Given the description of an element on the screen output the (x, y) to click on. 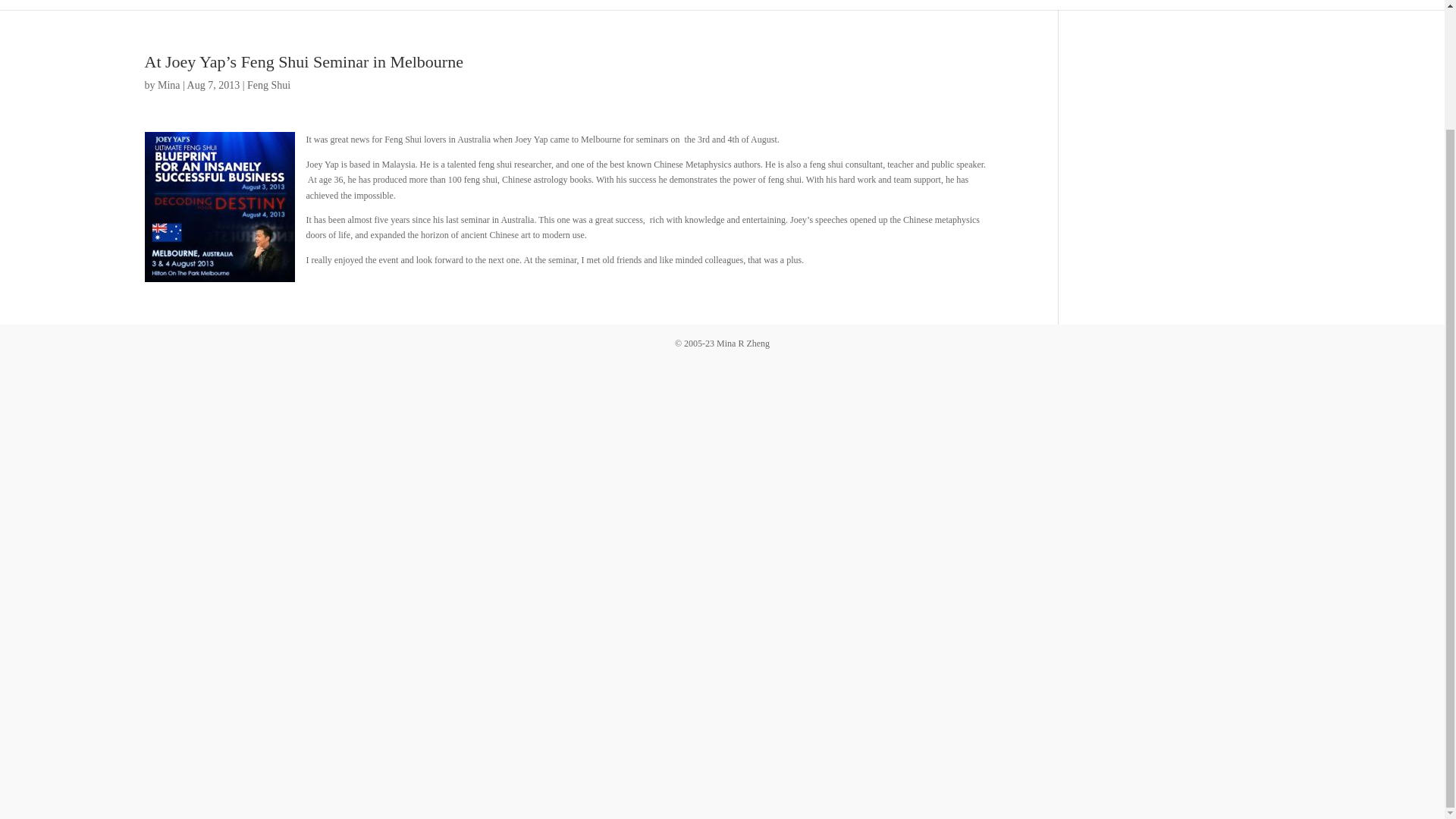
Home (490, 4)
Contact (948, 4)
About Feng Shui (744, 4)
Store (667, 4)
Consultations (553, 4)
Blog (901, 4)
In Chinese (840, 4)
Posts by Mina (168, 84)
Clients (620, 4)
